Given the description of an element on the screen output the (x, y) to click on. 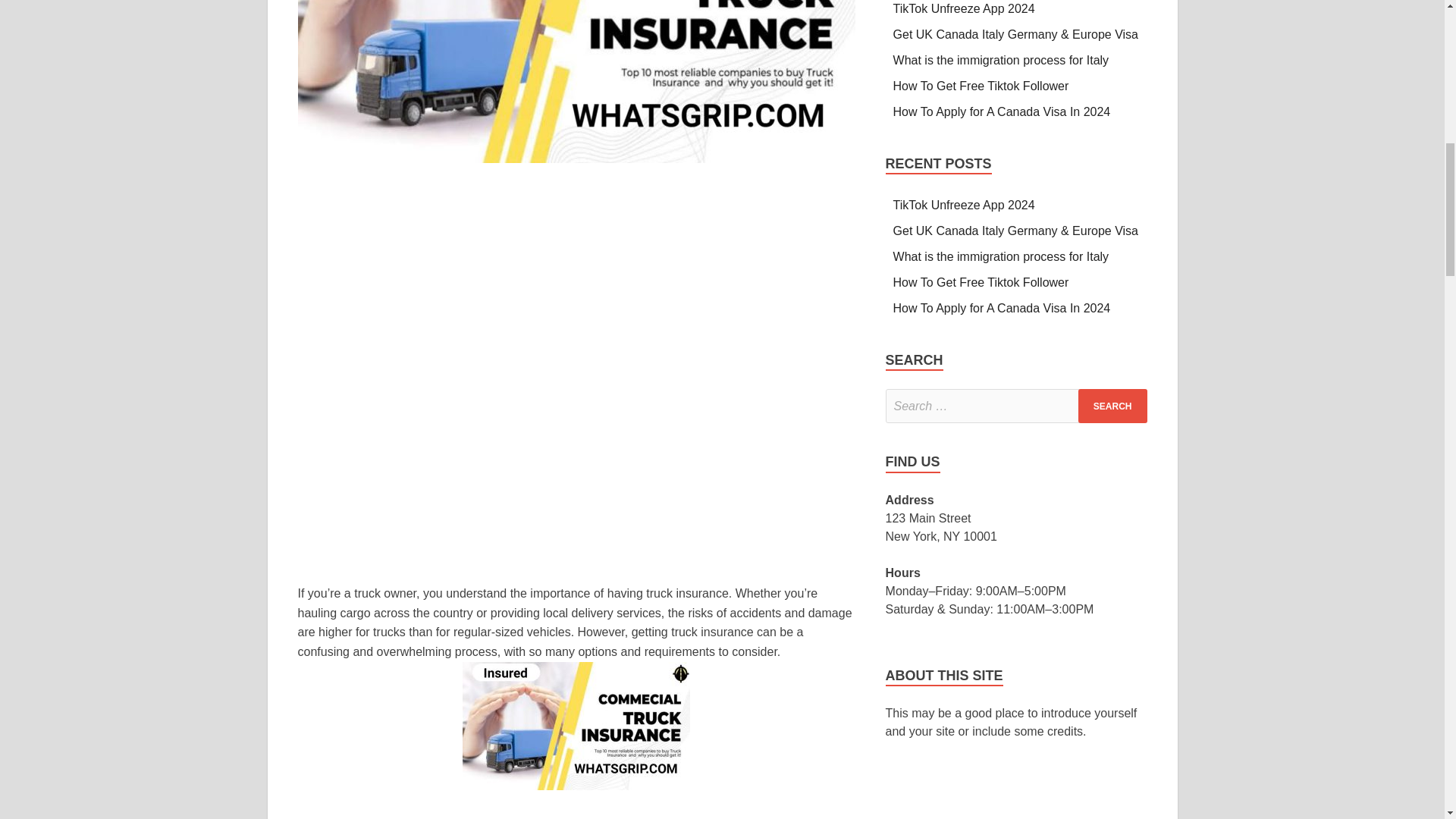
How To Apply for A Canada Visa In 2024 (1001, 111)
Search (1112, 406)
Search (1112, 406)
How To Get Free Tiktok Follower  (982, 85)
TikTok Unfreeze App 2024 (964, 8)
What is the immigration process for Italy (1001, 60)
